Given the description of an element on the screen output the (x, y) to click on. 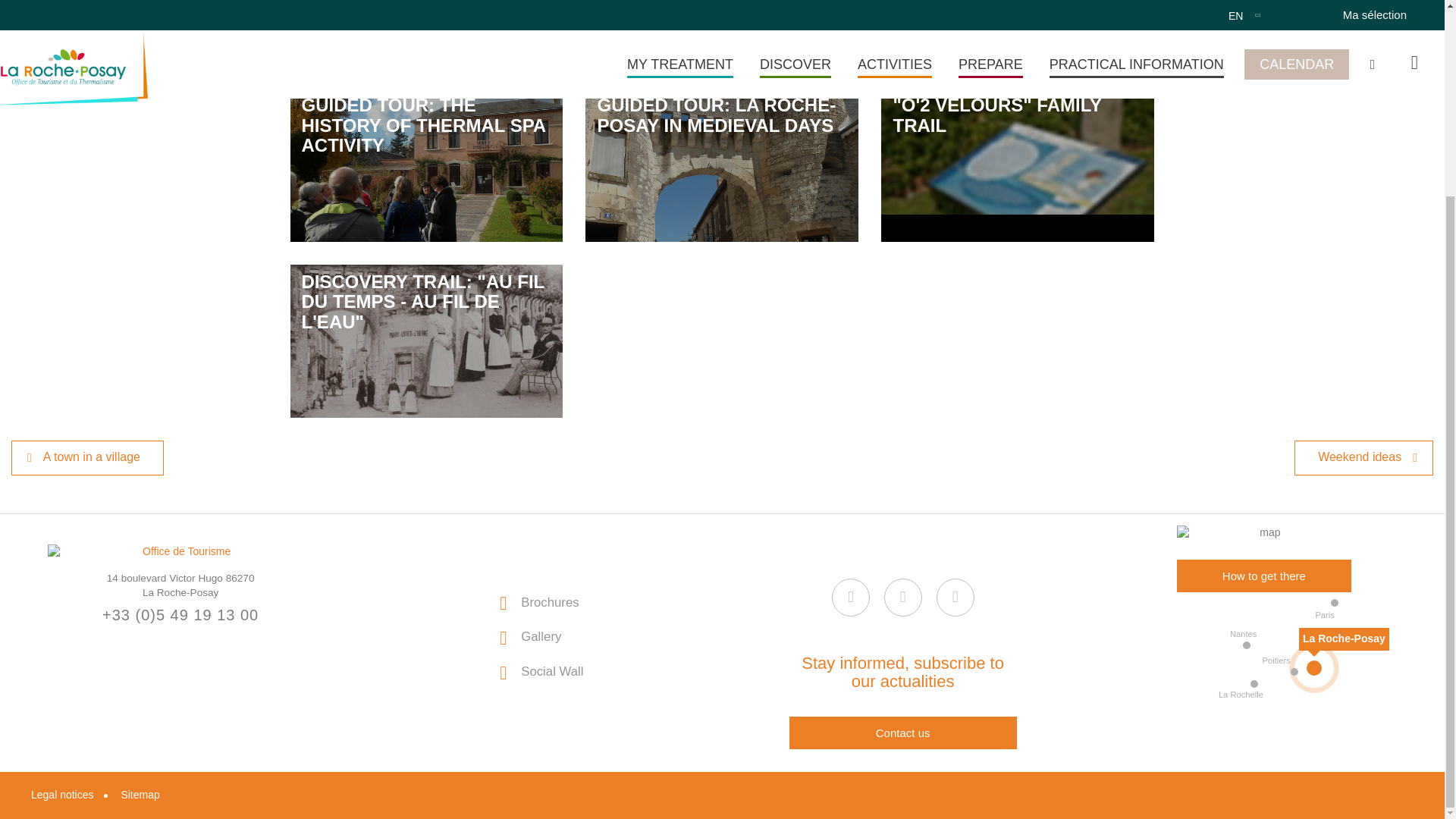
Logo de l'office de tourisme (180, 551)
Guided tour: La Roche-Posay in medieval days (722, 163)
Logo de l'office de tourisme (180, 551)
Guided tour: the history of thermal spa activity (425, 163)
Discovery trail: "Au fil du temps - Au fil de l'eau" (425, 340)
"O'2 velours" family trail (1017, 163)
